Given the description of an element on the screen output the (x, y) to click on. 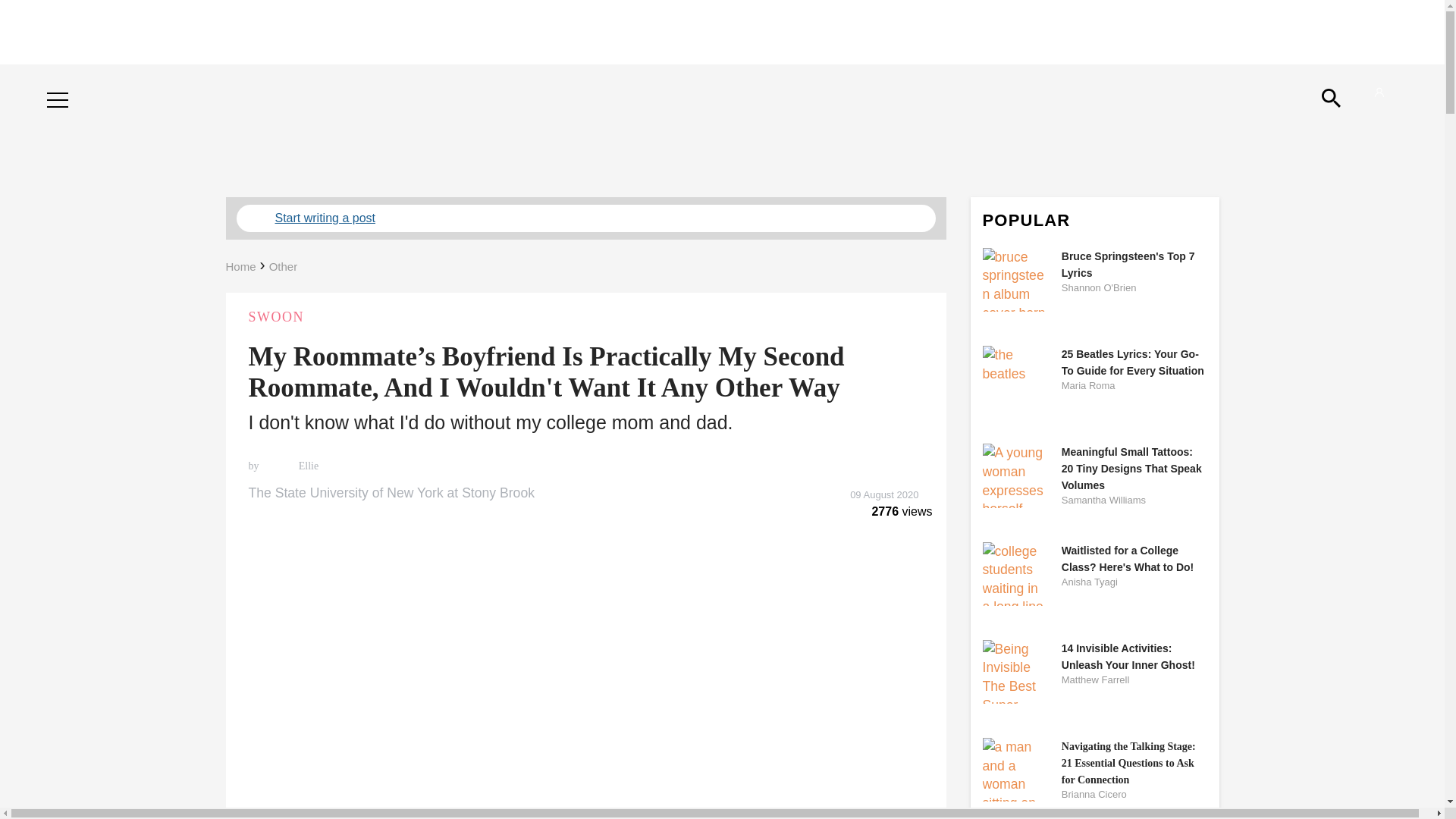
Home (240, 266)
Ellie (306, 466)
SWOON (585, 316)
Other (283, 266)
Start writing a post (585, 217)
GO BACK (79, 85)
